Given the description of an element on the screen output the (x, y) to click on. 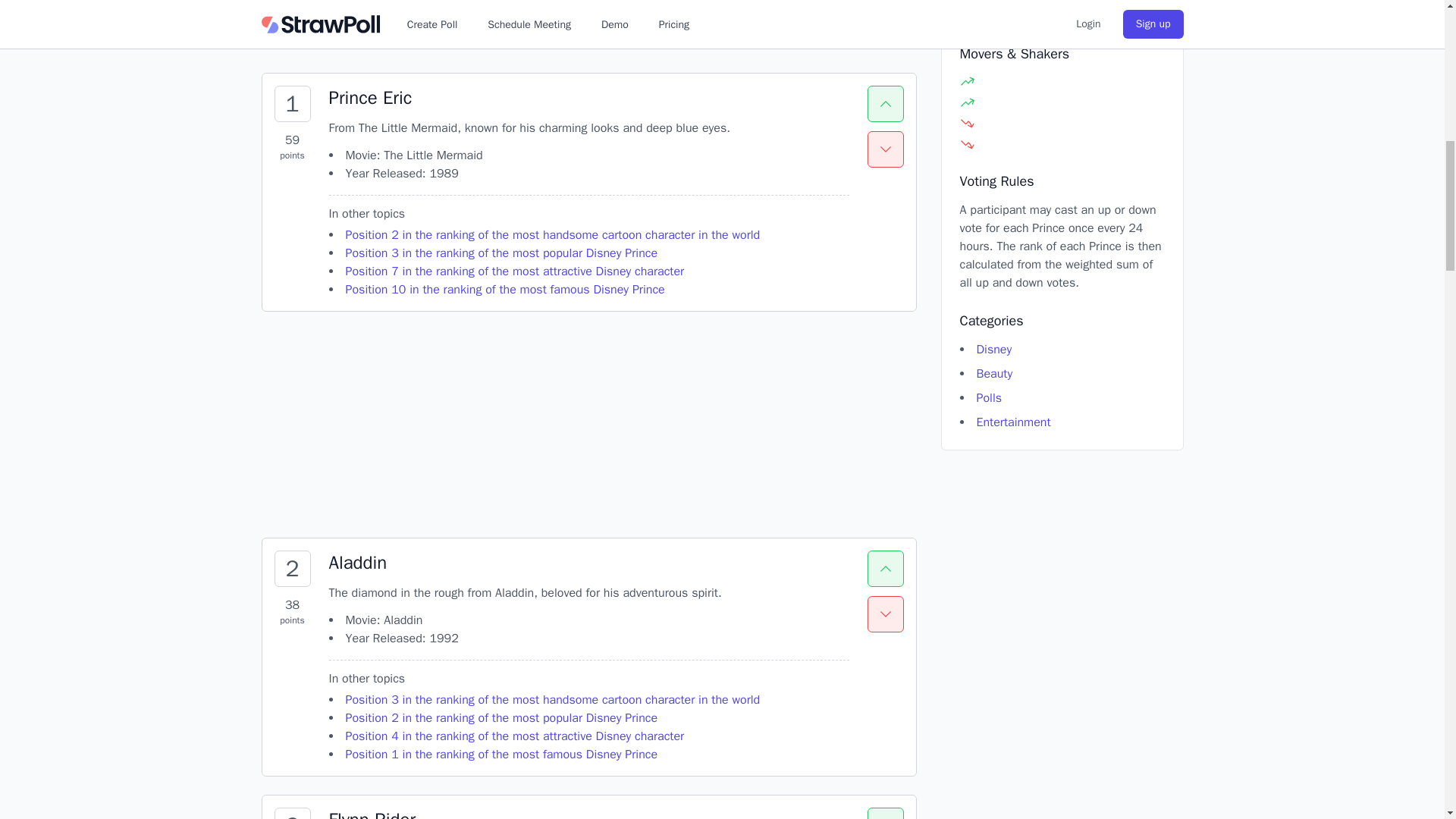
Graphs (348, 27)
Position 10 in the ranking of the most famous Disney Prince (505, 289)
Advertisement (587, 424)
Advertisement (1061, 12)
Position 3 in the ranking of the most popular Disney Prince (435, 27)
Ranking (502, 253)
